Given the description of an element on the screen output the (x, y) to click on. 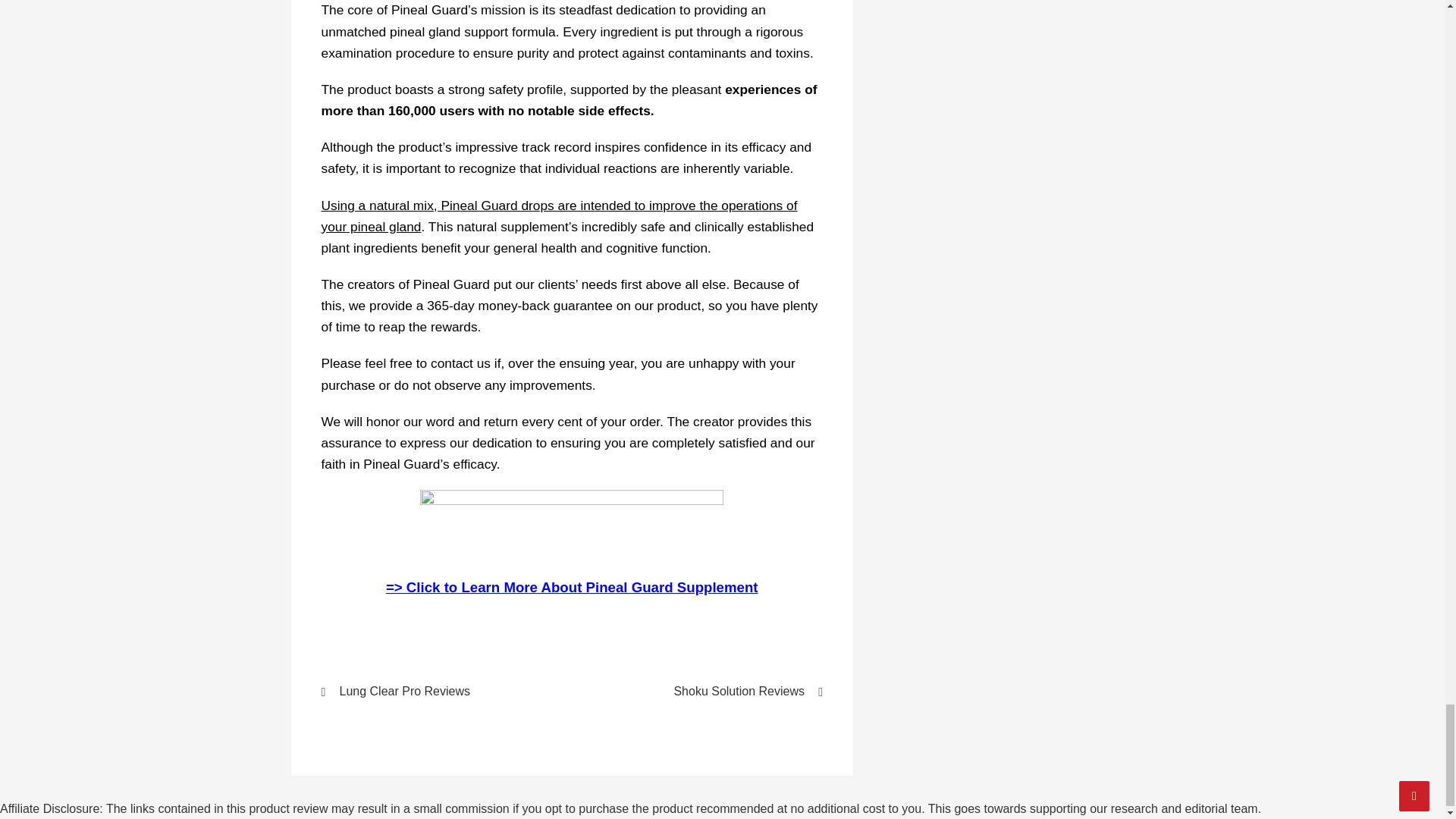
Shoku Solution Reviews (707, 691)
Pineal Guard Reviews 4 (571, 525)
Lung Clear Pro Reviews (436, 691)
